Given the description of an element on the screen output the (x, y) to click on. 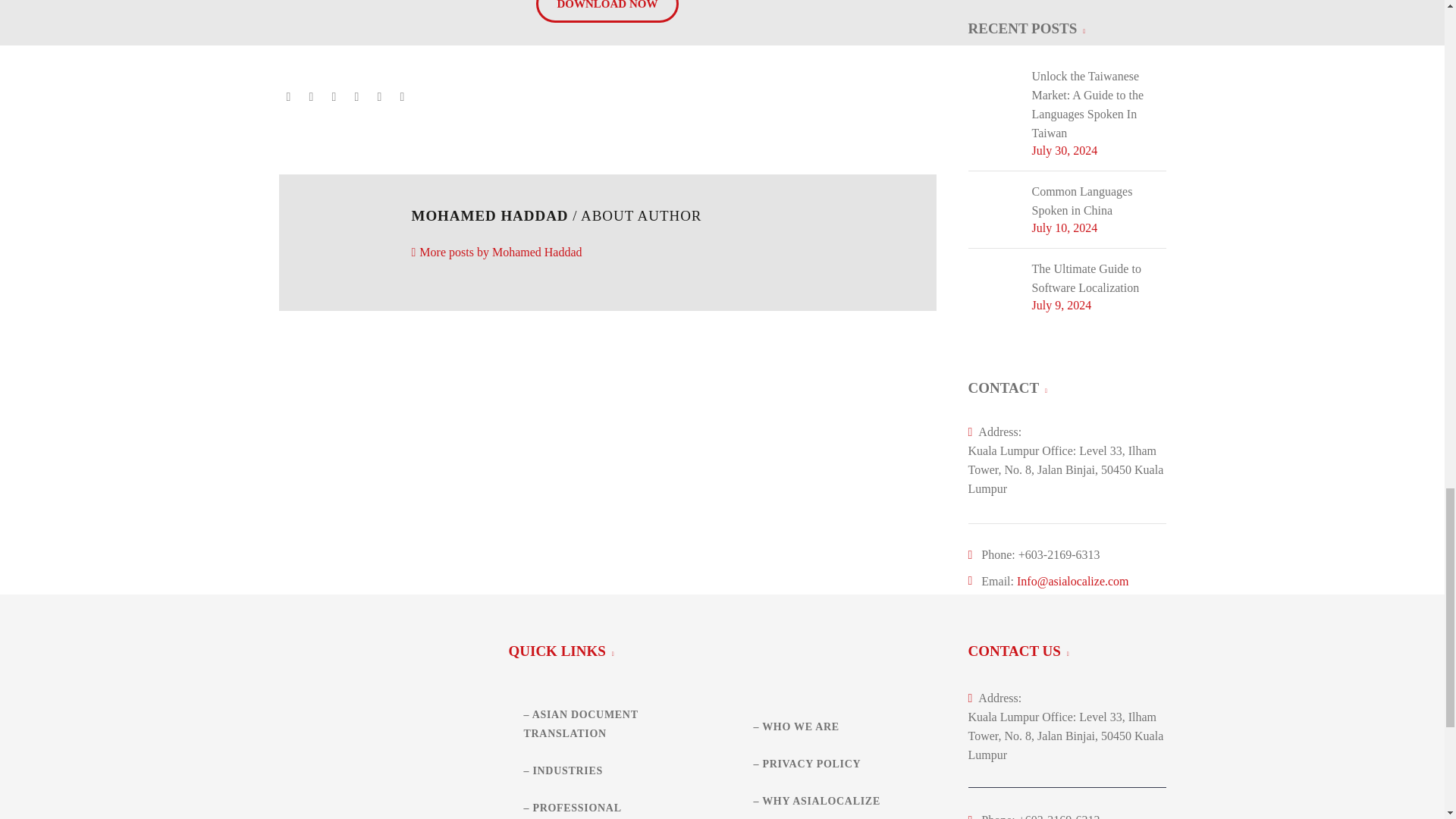
Download Now (607, 11)
More posts by Mohamed Haddad (495, 251)
Facebook (288, 96)
Twitter (310, 96)
LinkedIn (378, 96)
Download Now (607, 11)
Common Languages Spoken in China (1098, 200)
Pinterest (333, 96)
Tumblr (356, 96)
Reddit (401, 96)
